Given the description of an element on the screen output the (x, y) to click on. 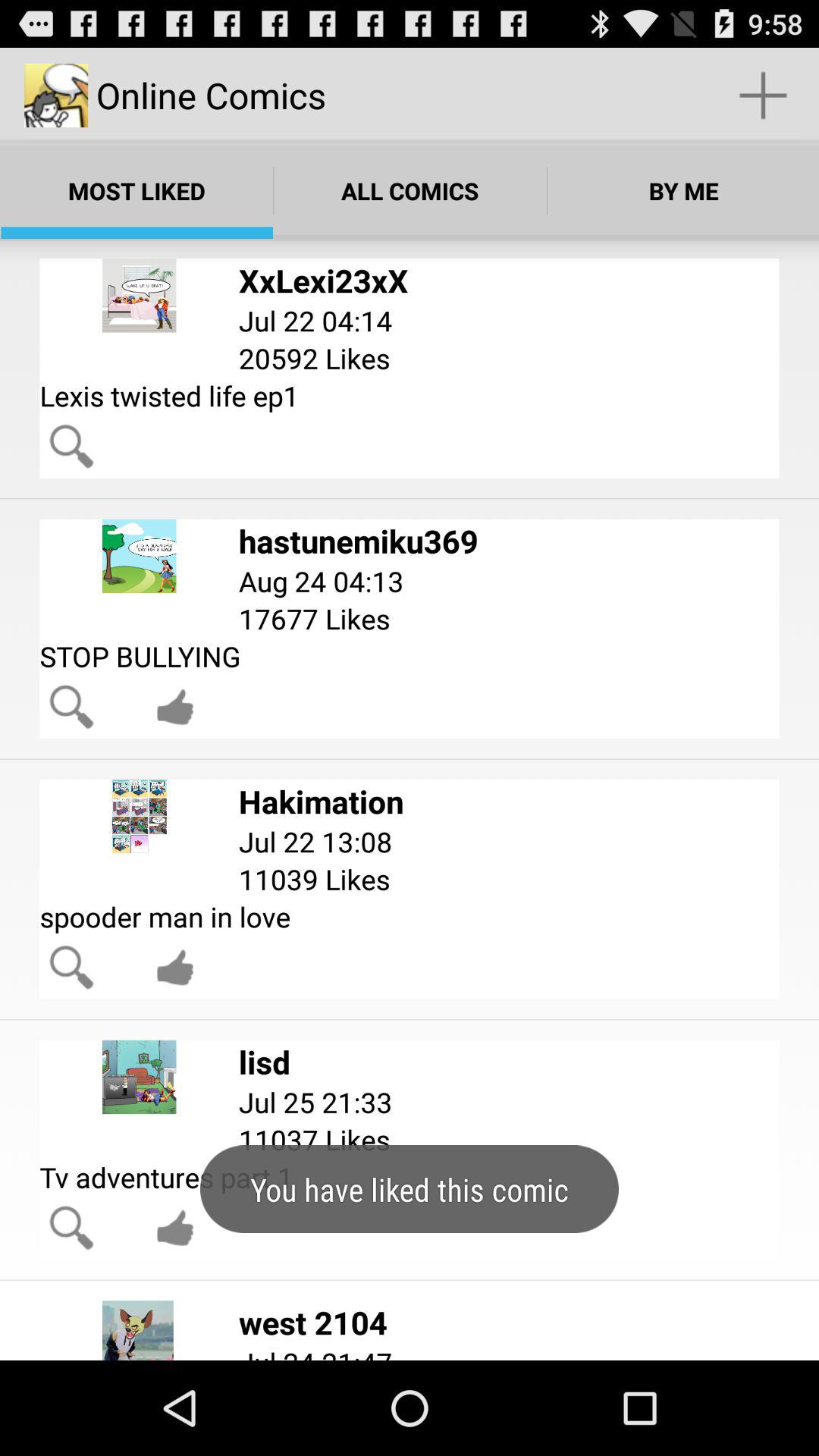
like option (175, 706)
